Given the description of an element on the screen output the (x, y) to click on. 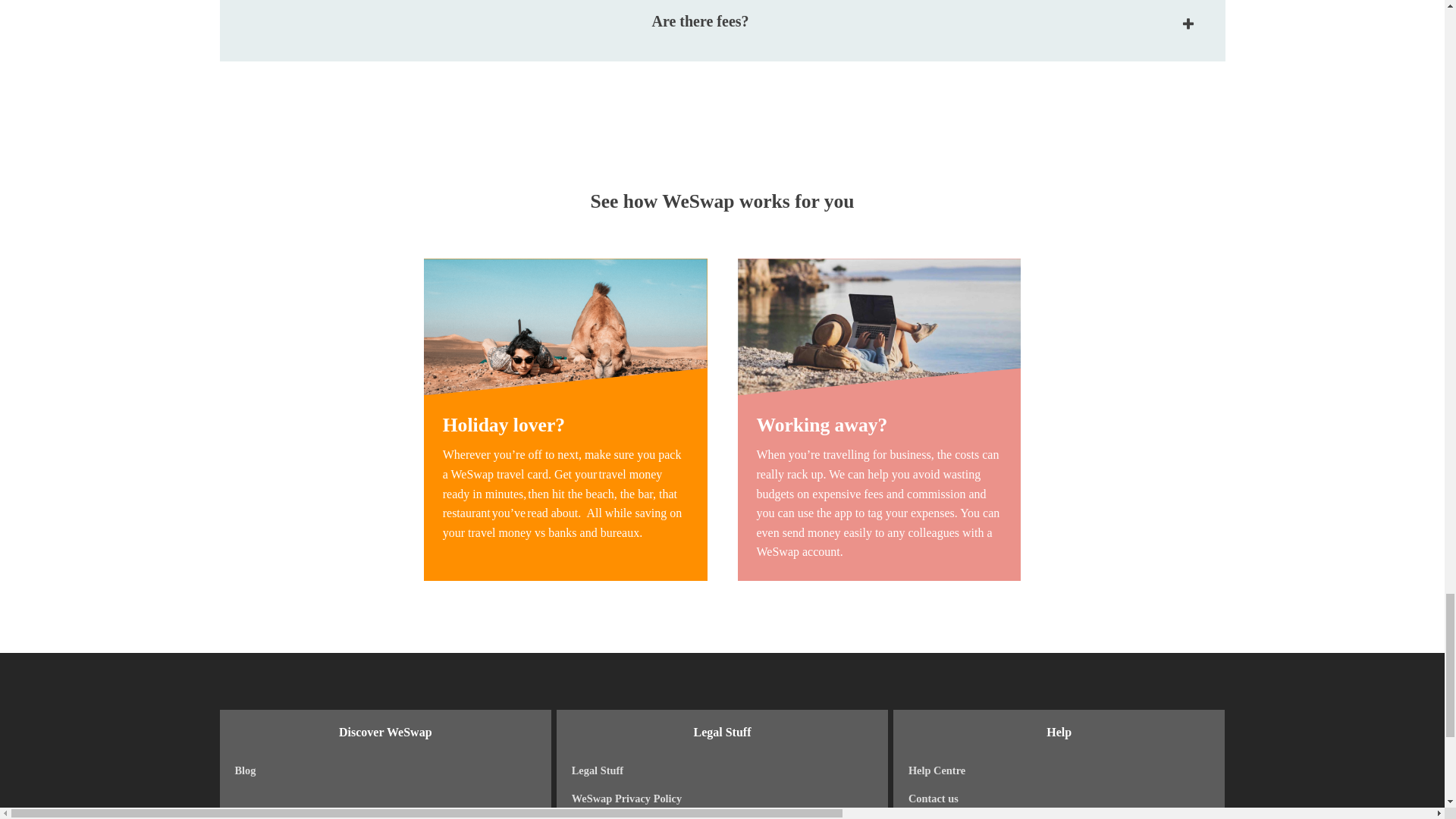
Blog (385, 770)
Help Centre (1058, 770)
WeSwap Privacy Policy (722, 798)
Legal Stuff (722, 770)
Are there fees? (722, 30)
Contact us (1058, 798)
